Given the description of an element on the screen output the (x, y) to click on. 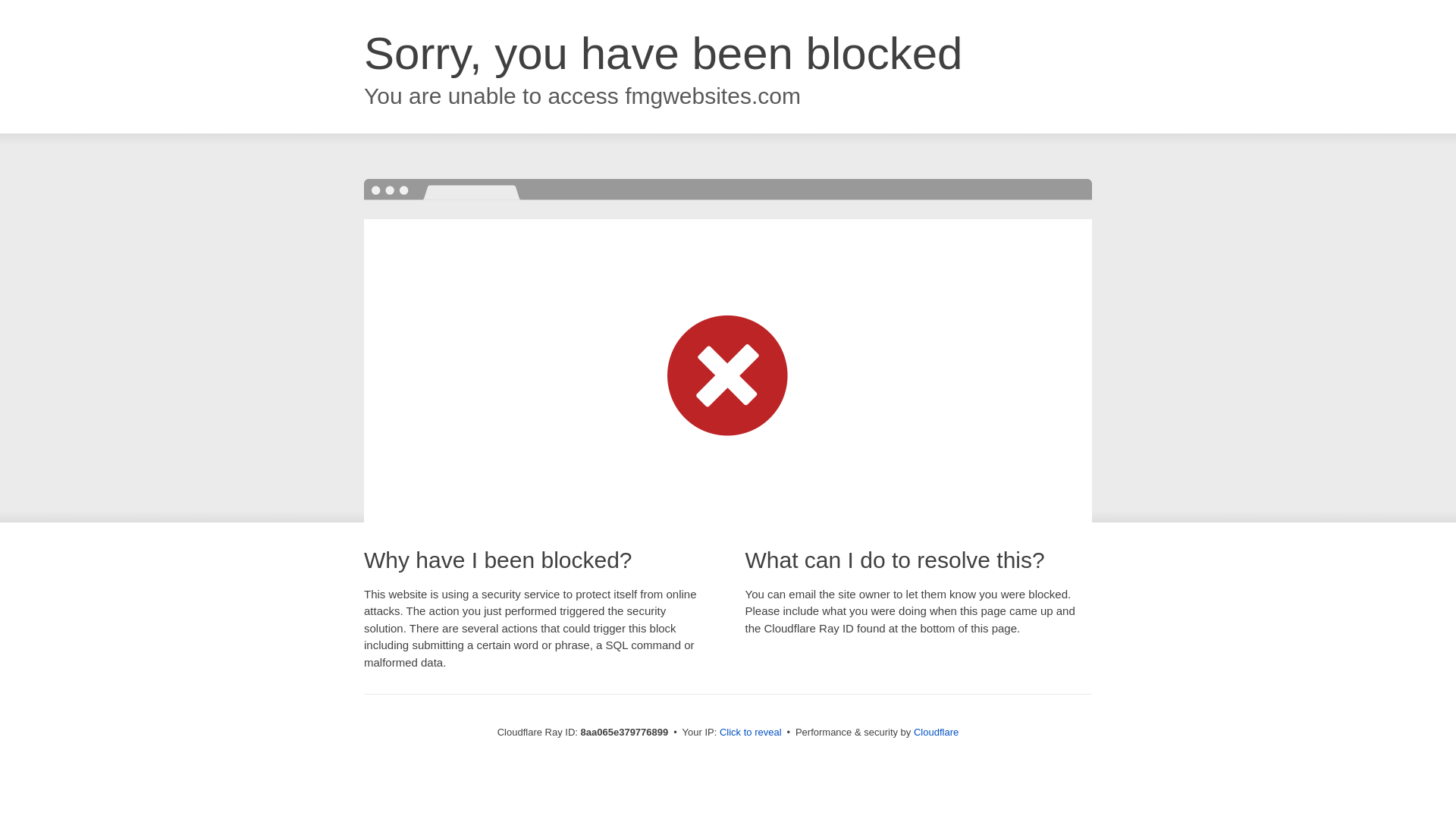
Click to reveal (750, 732)
Cloudflare (936, 731)
